Given the description of an element on the screen output the (x, y) to click on. 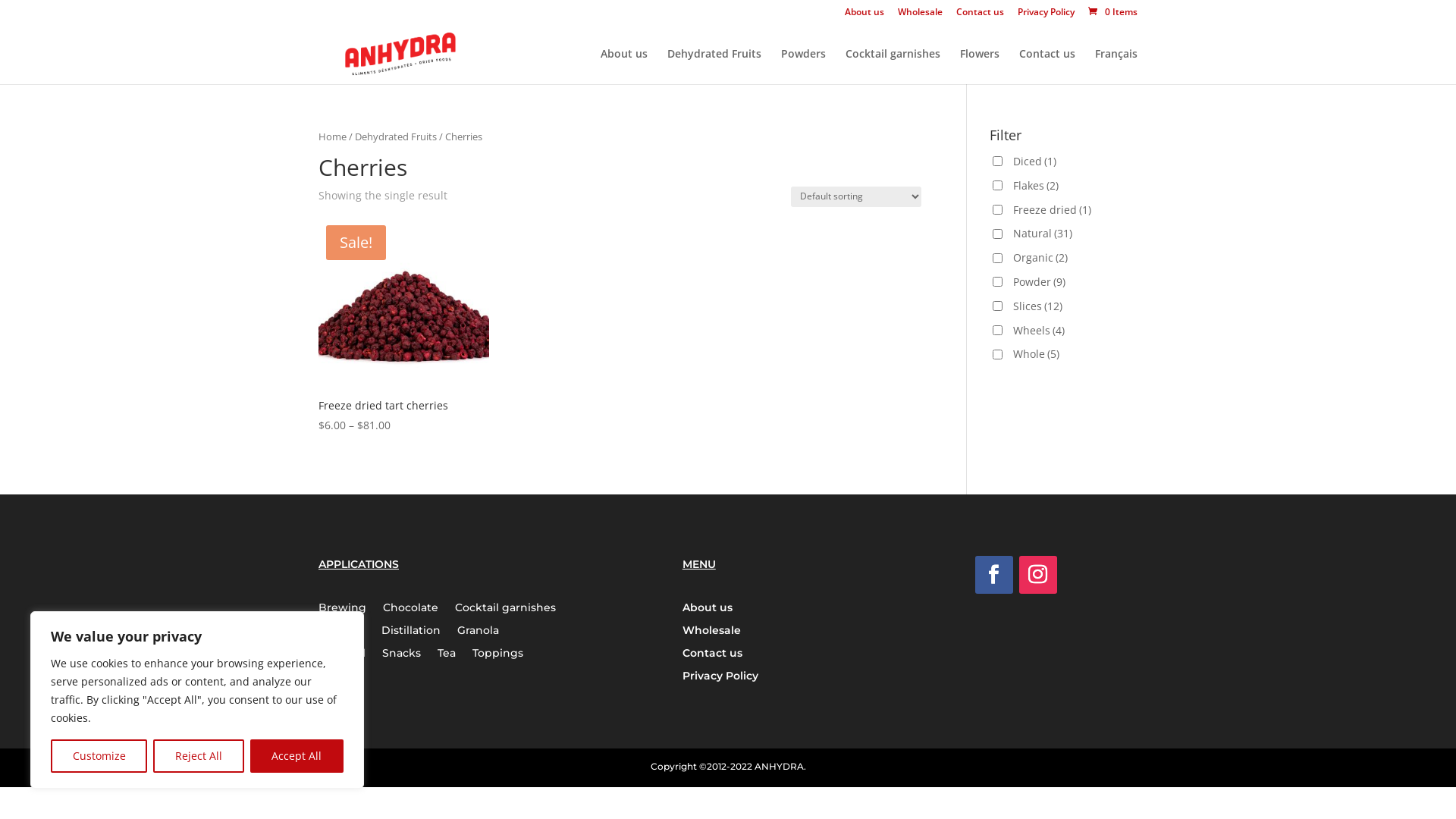
Powders Element type: text (803, 66)
Privacy Policy Element type: text (720, 678)
Accept All Element type: text (296, 755)
Chocolate Element type: text (410, 610)
About us Element type: text (864, 15)
Cooking Element type: text (341, 632)
Cocktail garnishes Element type: text (505, 610)
Reject All Element type: text (198, 755)
Wholesale Element type: text (919, 15)
Follow on Instagram Element type: hover (1038, 574)
Contact us Element type: text (1047, 66)
Customize Element type: text (98, 755)
Granola Element type: text (477, 632)
Contact us Element type: text (712, 655)
Oatmeal Element type: text (341, 655)
0 Items Element type: text (1111, 11)
Toppings Element type: text (497, 655)
Distillation Element type: text (410, 632)
Brewing Element type: text (342, 610)
Dehydrated Fruits Element type: text (395, 136)
Snacks Element type: text (401, 655)
About us Element type: text (623, 66)
About us Element type: text (707, 610)
Cocktail garnishes Element type: text (892, 66)
Follow on Facebook Element type: hover (994, 574)
Flowers Element type: text (979, 66)
Contact us Element type: text (980, 15)
Dehydrated Fruits Element type: text (714, 66)
Tea Element type: text (446, 655)
Wholesale Element type: text (711, 632)
Home Element type: text (332, 136)
Privacy Policy Element type: text (1045, 15)
